Given the description of an element on the screen output the (x, y) to click on. 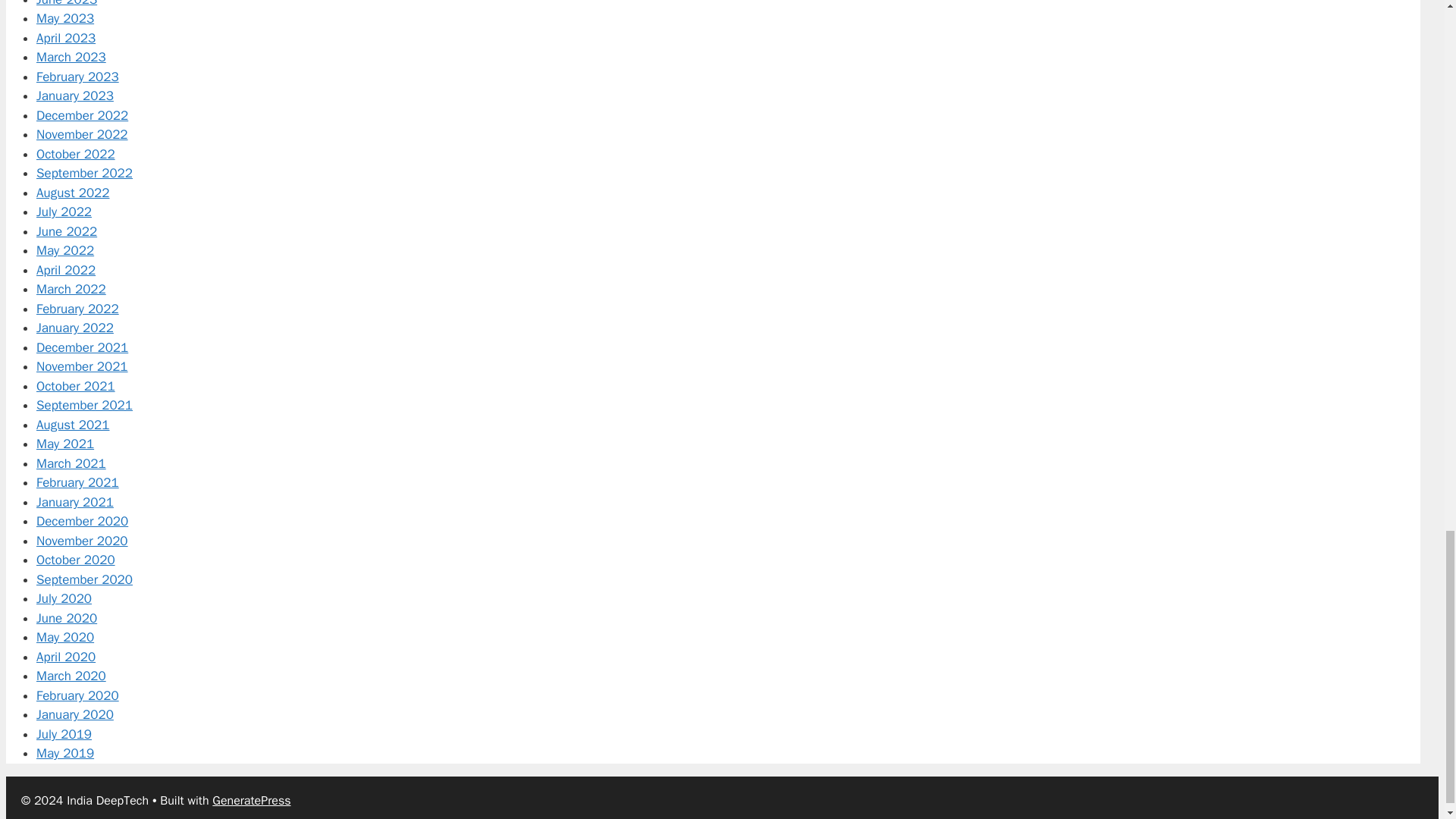
December 2022 (82, 115)
August 2022 (72, 192)
March 2023 (71, 57)
November 2022 (82, 134)
February 2023 (77, 76)
January 2023 (74, 95)
October 2022 (75, 154)
June 2023 (66, 3)
September 2022 (84, 172)
April 2023 (66, 37)
May 2023 (65, 18)
